Given the description of an element on the screen output the (x, y) to click on. 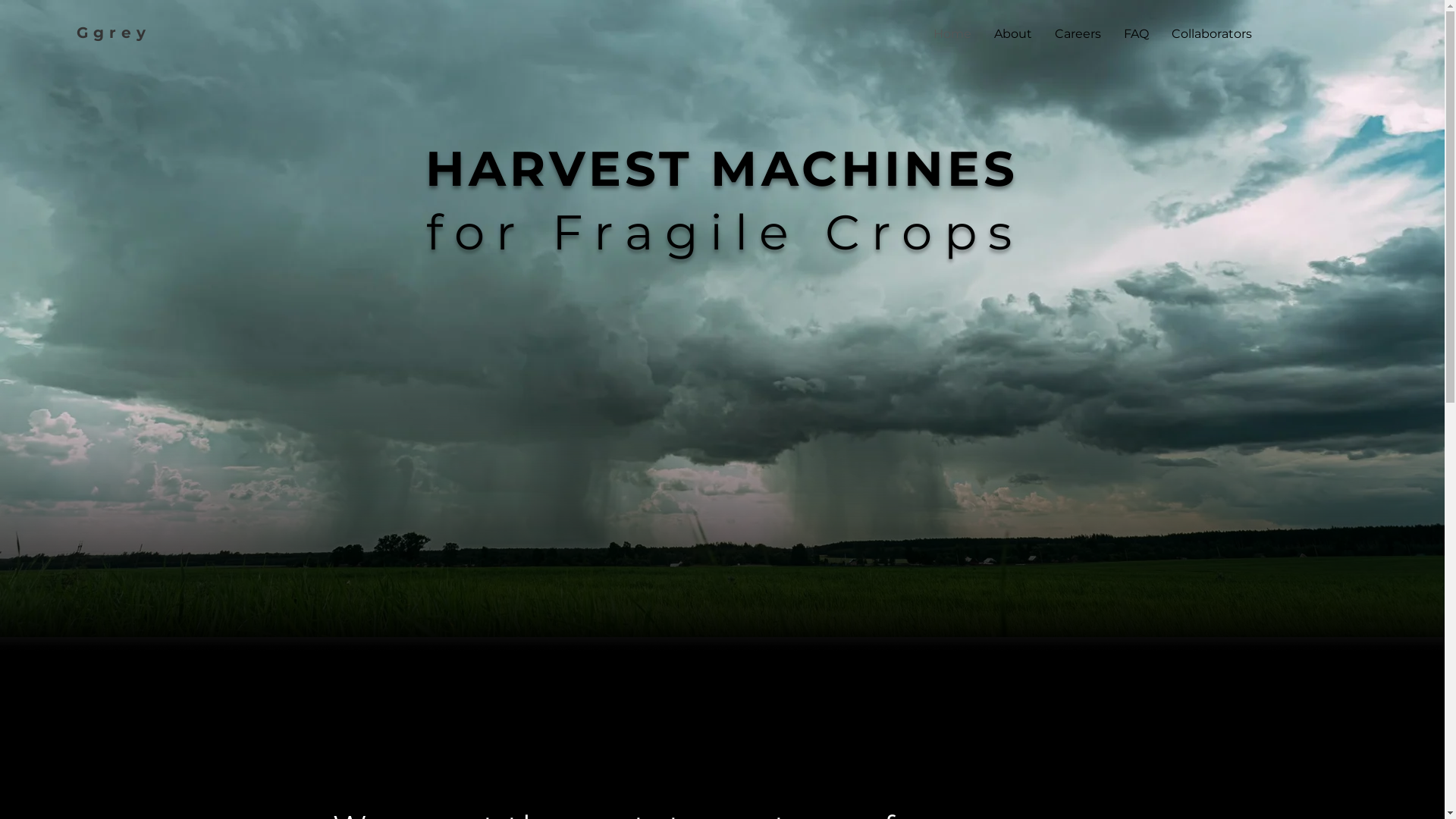
Home Element type: text (952, 34)
Collaborators Element type: text (1211, 34)
for Fragile Crops Element type: text (724, 231)
About Element type: text (1012, 34)
FAQ Element type: text (1136, 34)
Careers Element type: text (1077, 34)
HARVEST MACHINES Element type: text (722, 167)
Ggrey Element type: text (113, 32)
